Given the description of an element on the screen output the (x, y) to click on. 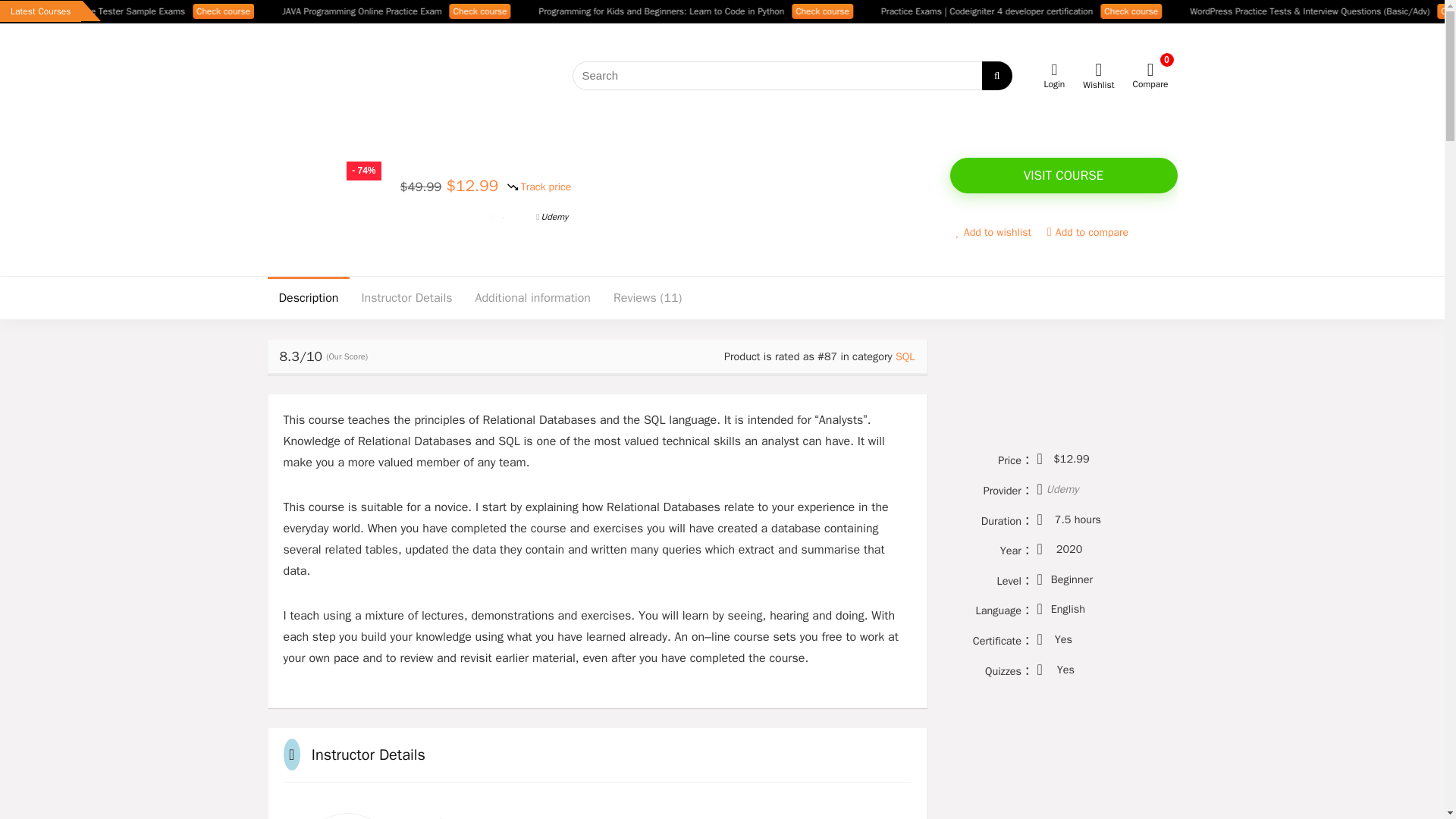
VISIT COURSE (1062, 175)
Description (307, 297)
SQL (514, 216)
SQL (905, 356)
Check course (594, 10)
Additional information (533, 297)
Tom Gillies (433, 216)
Udemy (551, 216)
Udemy (1062, 489)
Check course (338, 10)
